Given the description of an element on the screen output the (x, y) to click on. 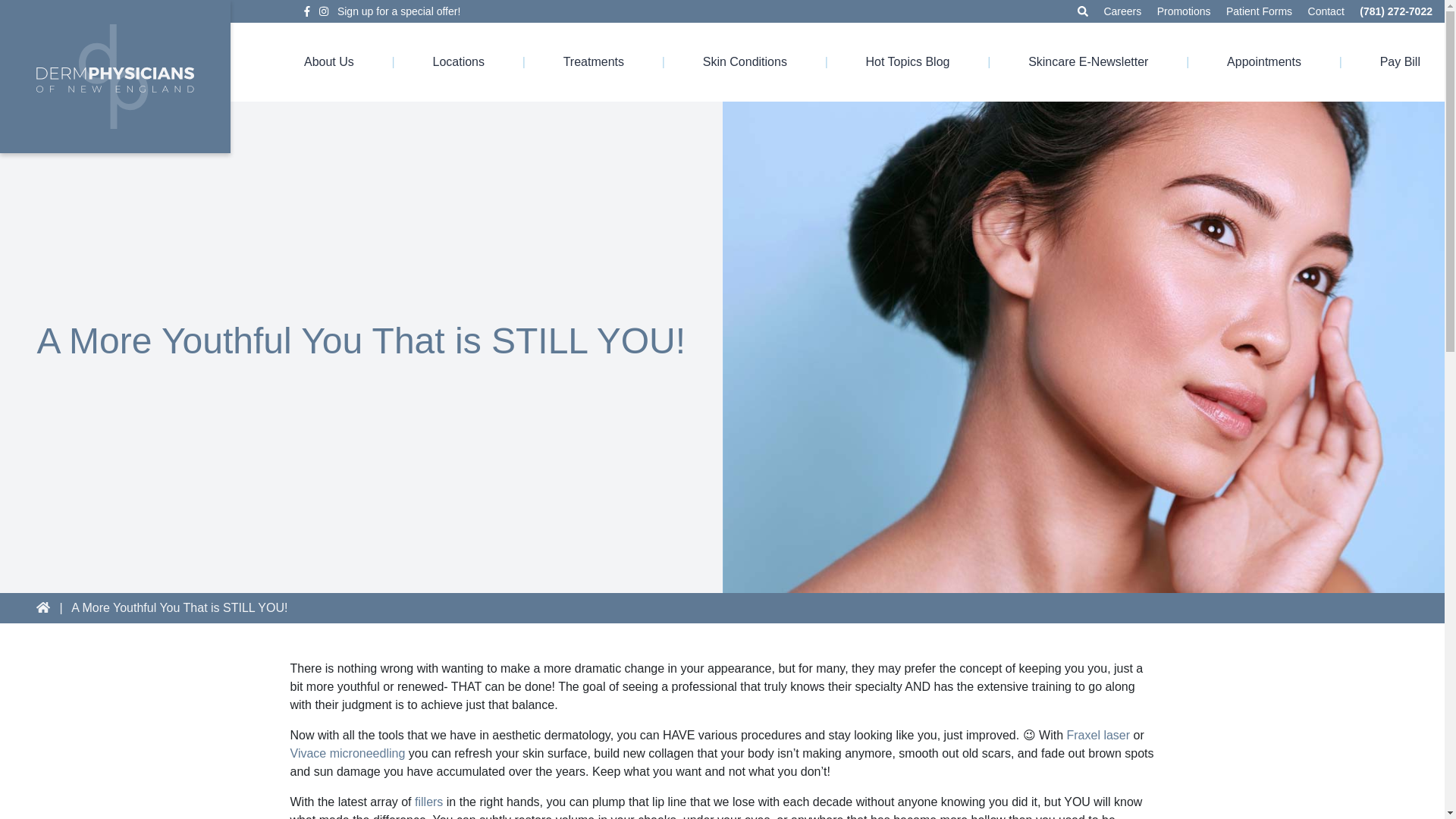
Patient Forms (1258, 10)
Contact (1325, 10)
Treatments (593, 61)
Locations (458, 61)
About Us (328, 61)
Promotions (1184, 10)
Careers (1122, 10)
Sign up for a special offer! (398, 11)
